Given the description of an element on the screen output the (x, y) to click on. 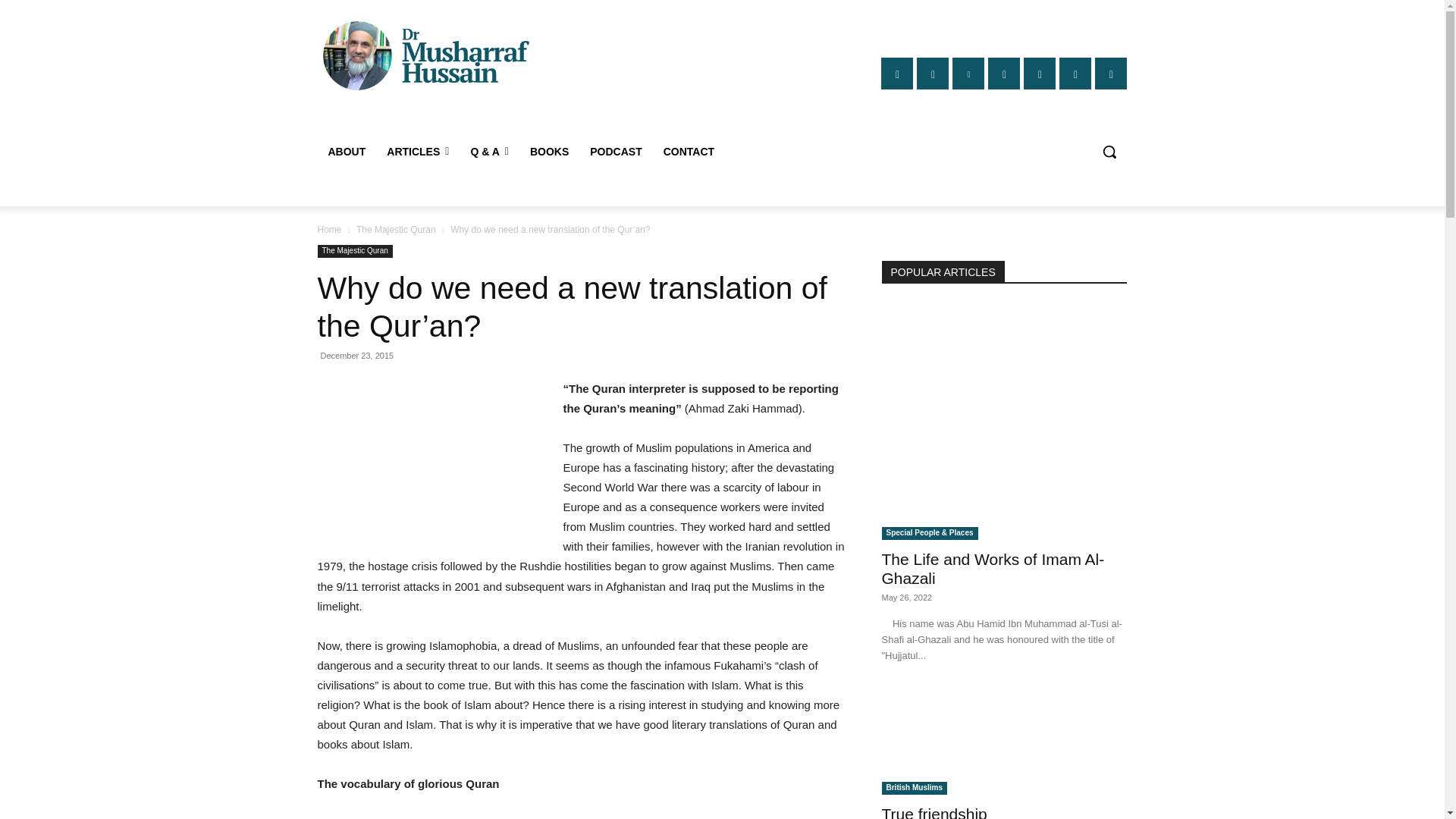
Facebook (896, 73)
Spotify (1004, 73)
Youtube (1110, 73)
Twitter (1074, 73)
View all posts in The Majestic Quran (395, 229)
Instagram (933, 73)
ABOUT (346, 151)
ARTICLES (417, 151)
Linkedin (968, 73)
TikTok (1039, 73)
